Given the description of an element on the screen output the (x, y) to click on. 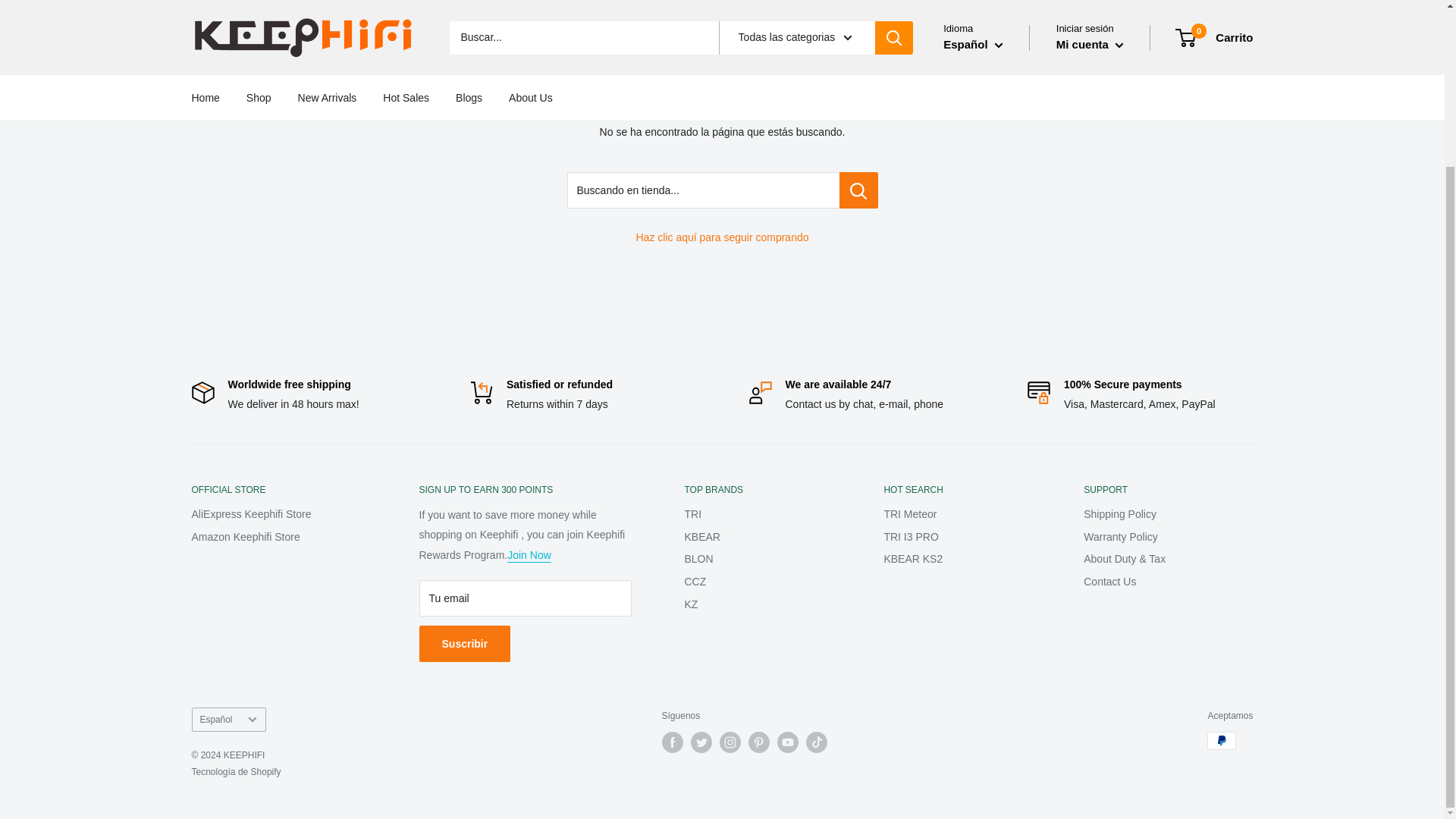
pt-BR (968, 20)
fr (968, 5)
Sign up to earn 100 points (528, 554)
